Given the description of an element on the screen output the (x, y) to click on. 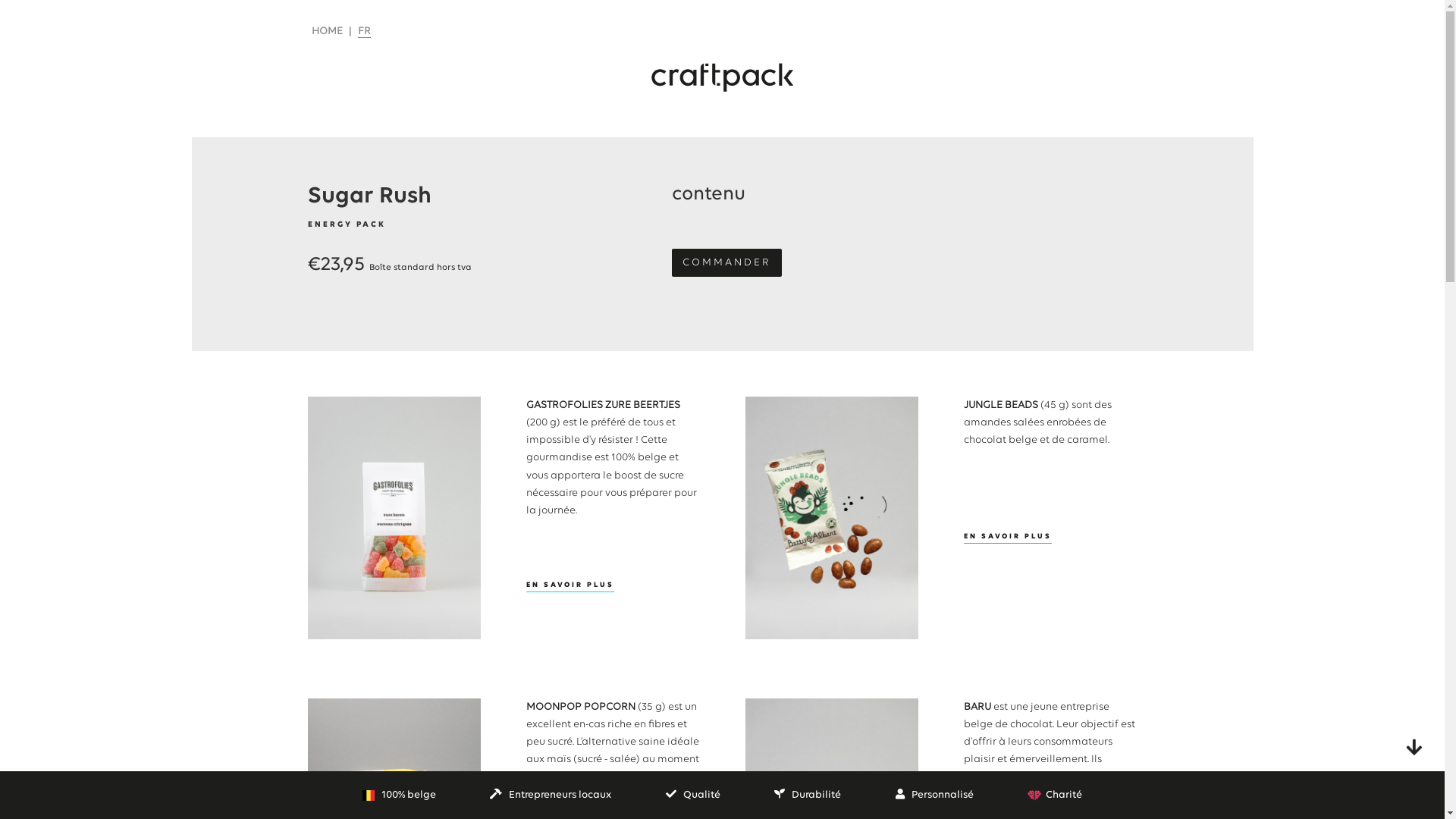
FR Element type: text (363, 31)
EN SAVOIR PLUS Element type: text (1007, 537)
CRAFTPACK Element type: text (722, 76)
HOME Element type: text (326, 31)
EN SAVOIR PLUS Element type: text (570, 586)
COMMANDER Element type: text (726, 262)
